Given the description of an element on the screen output the (x, y) to click on. 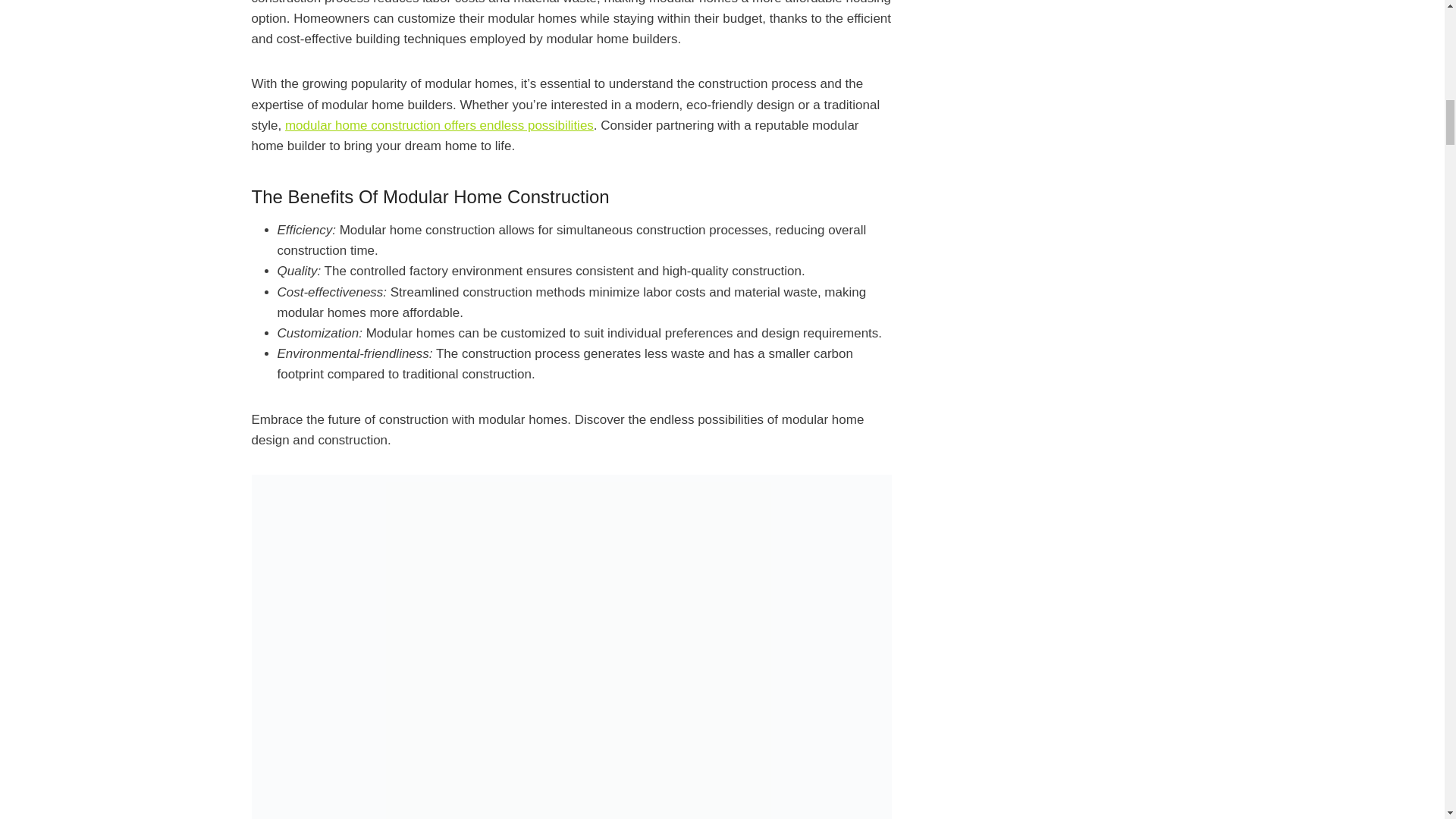
modular home construction offers endless possibilities (439, 124)
